Given the description of an element on the screen output the (x, y) to click on. 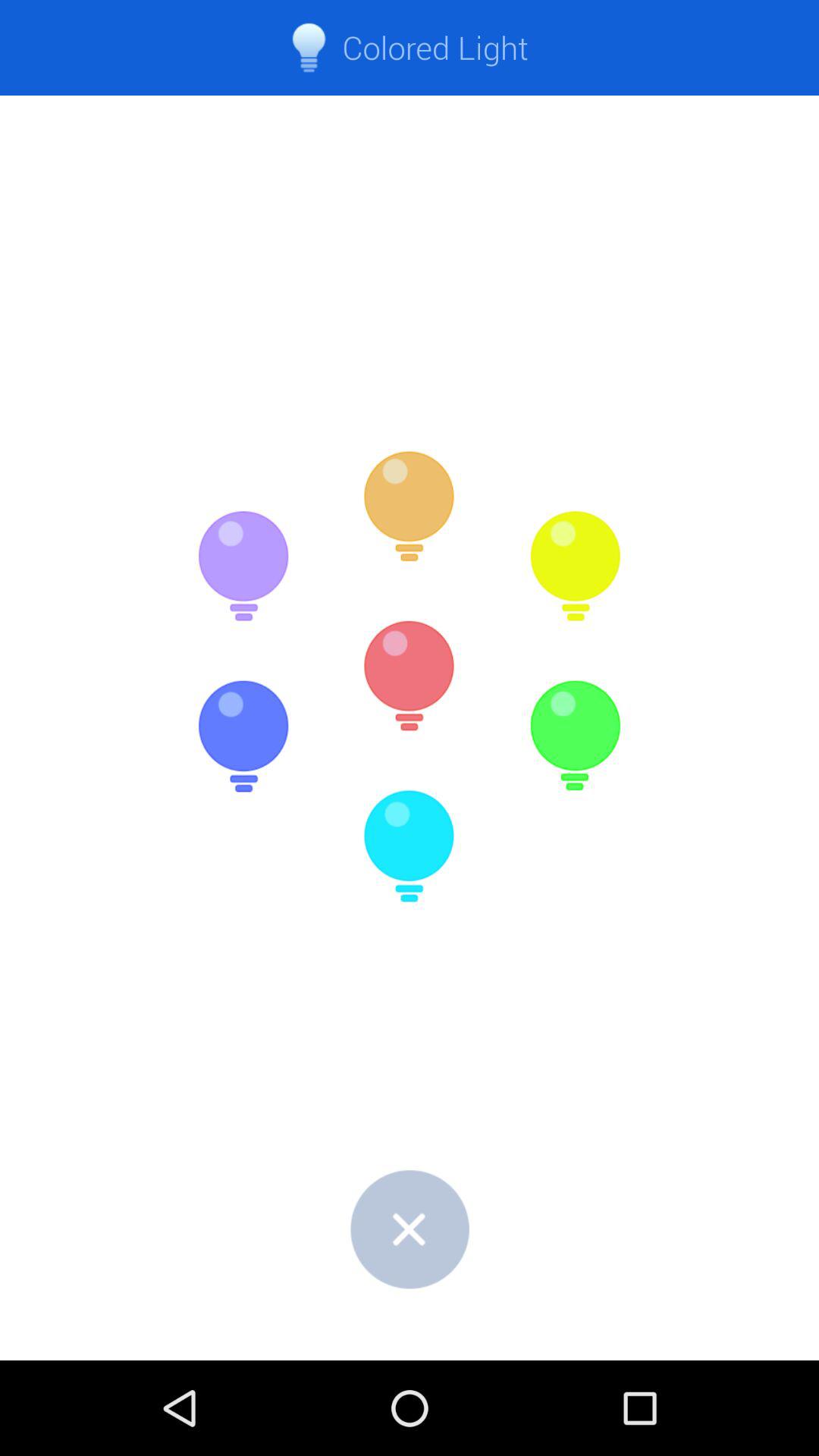
select yellow light (574, 566)
